Given the description of an element on the screen output the (x, y) to click on. 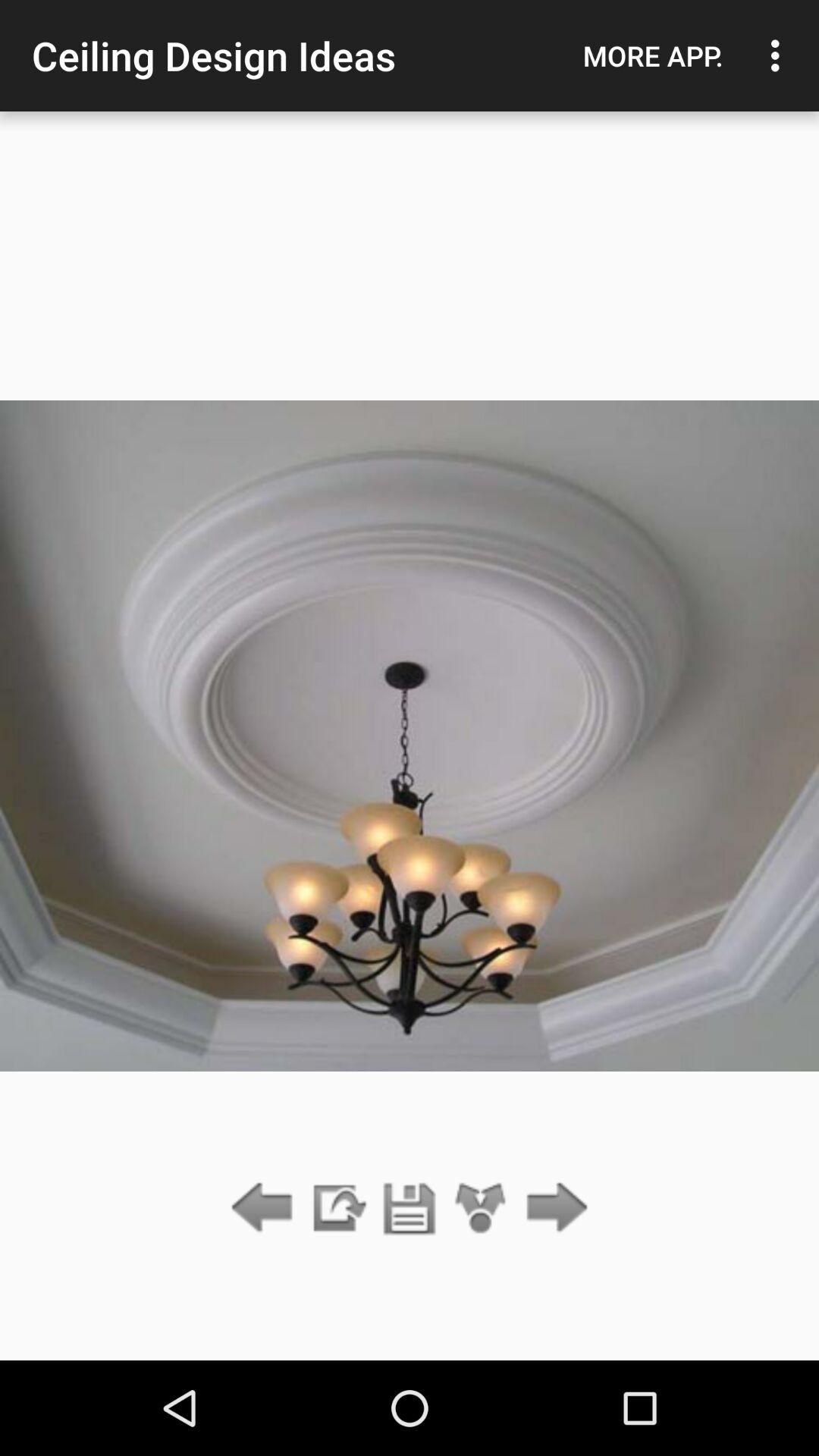
choose previous page (266, 1209)
